Given the description of an element on the screen output the (x, y) to click on. 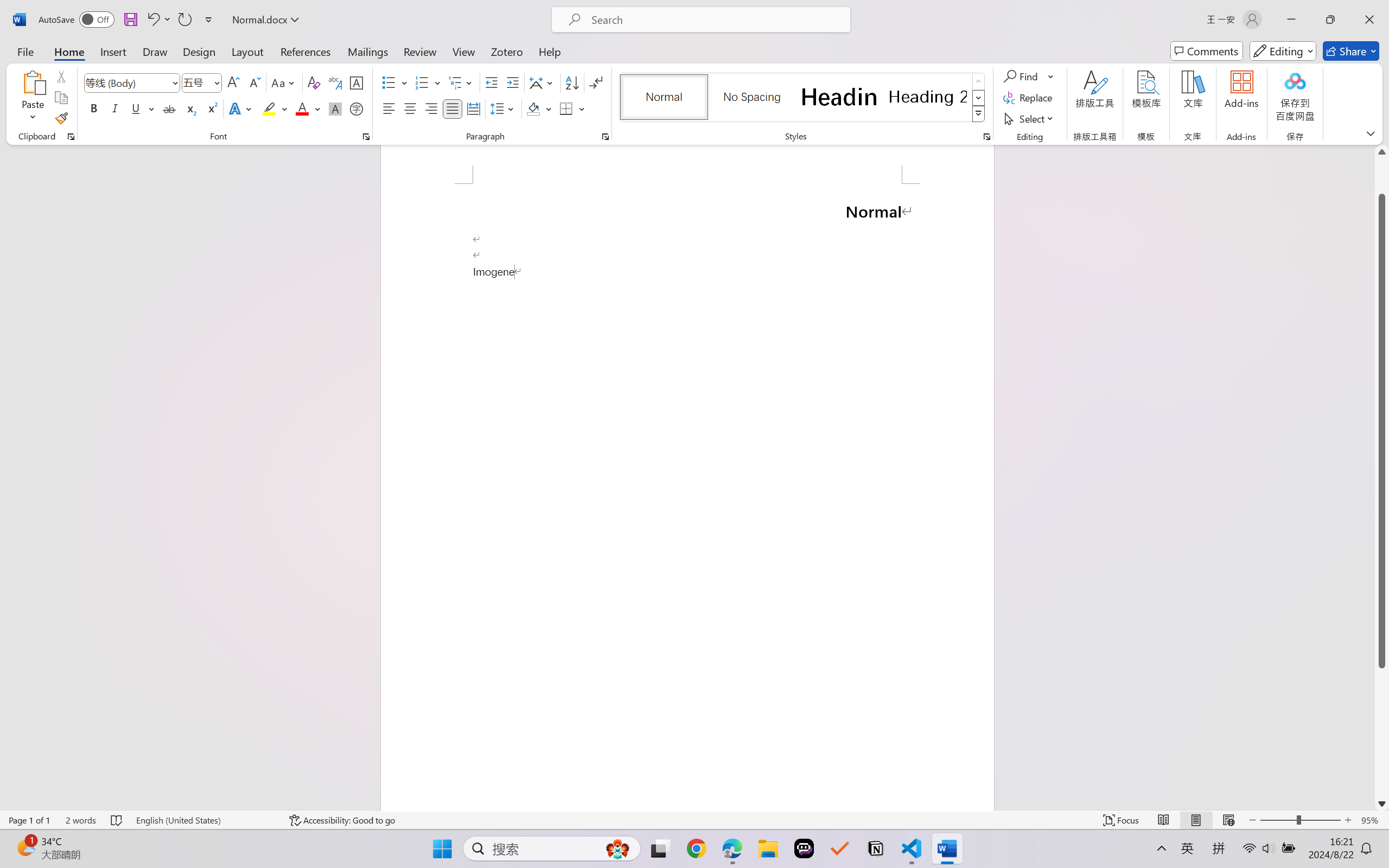
Line up (1382, 151)
Font... (365, 136)
Shrink Font (253, 82)
Page up (1382, 175)
Open (215, 82)
Heading 1 (839, 96)
Change Case (284, 82)
Styles (978, 113)
Paragraph... (605, 136)
